Given the description of an element on the screen output the (x, y) to click on. 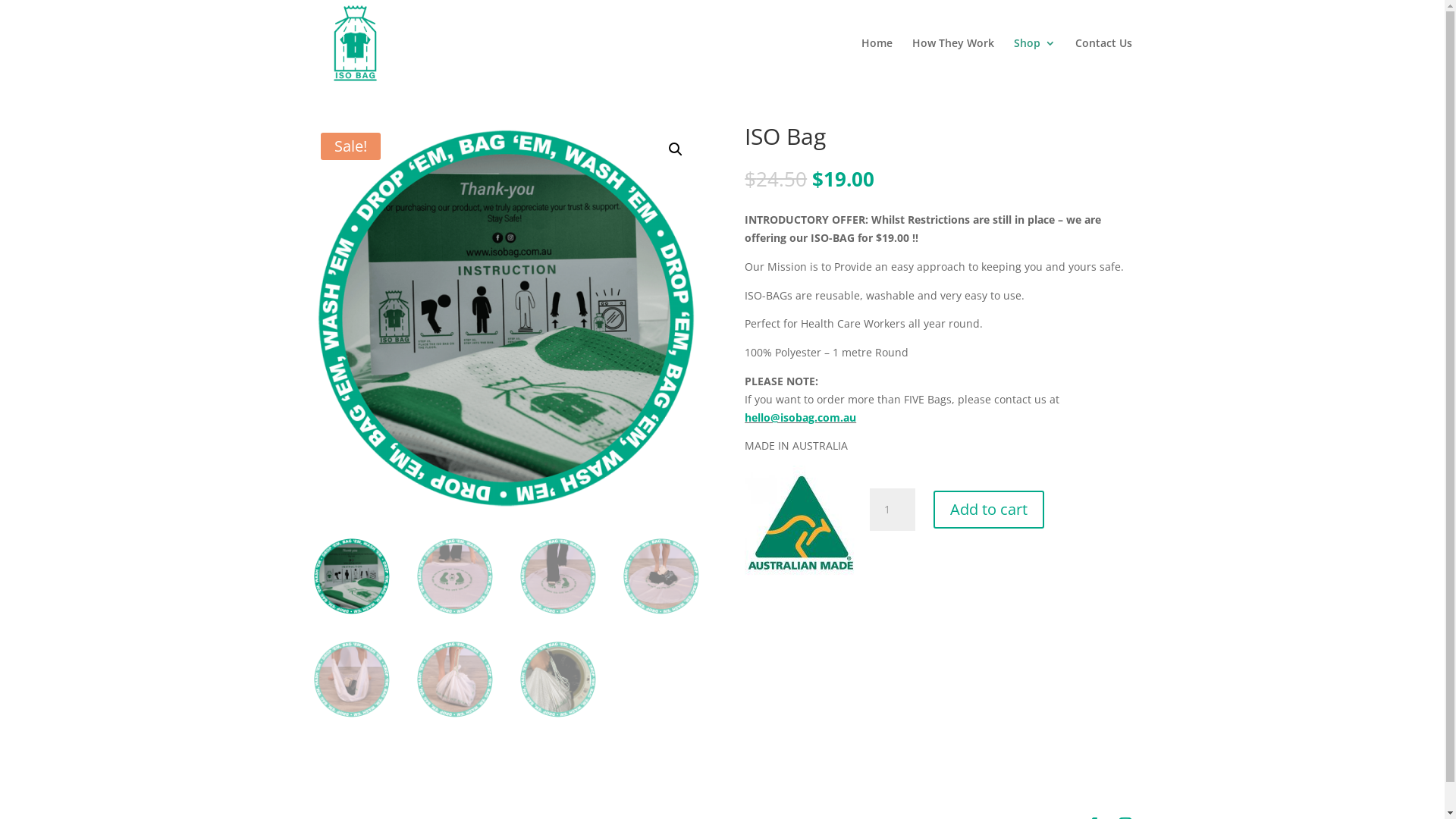
Home Element type: text (876, 61)
Contact Us Element type: text (1103, 61)
ISO-BAG 1a Element type: hover (505, 318)
Add to cart Element type: text (988, 509)
hello@isobag.com.au Element type: text (800, 417)
Shop Element type: text (1033, 61)
How They Work Element type: text (952, 61)
